Given the description of an element on the screen output the (x, y) to click on. 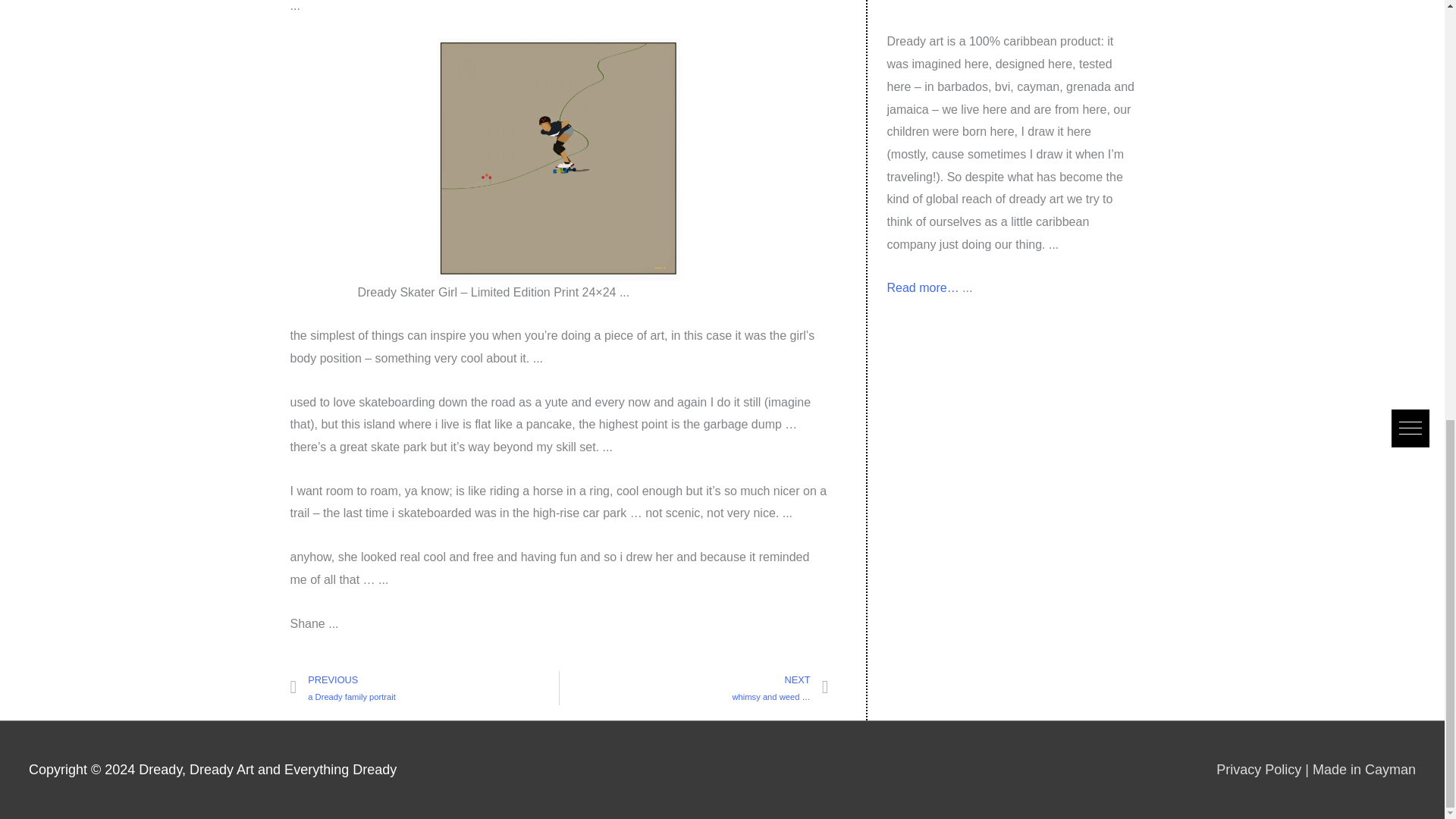
Dready, Dready Art and Everything Dready dreadyskatergirl (558, 159)
Privacy Policy (1258, 769)
Made in Cayman (1364, 769)
